Given the description of an element on the screen output the (x, y) to click on. 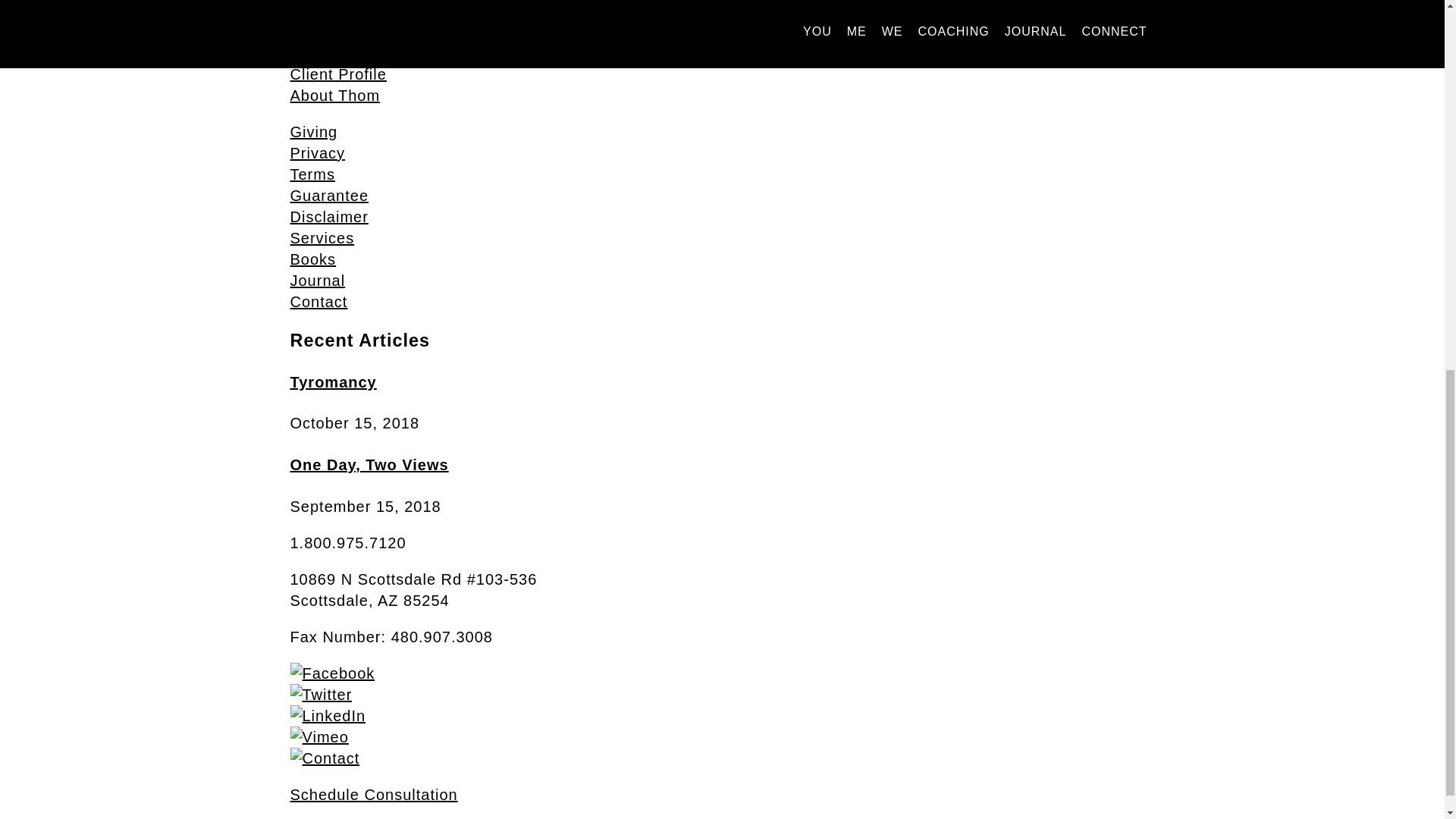
Books (312, 258)
Schedule Consultation (373, 794)
About Thom (334, 95)
One Day, Two Views (368, 464)
Methodology (337, 53)
Guarantee (328, 195)
Disclaimer (328, 216)
Tyromancy (332, 381)
Giving (313, 131)
Terms (311, 174)
